Given the description of an element on the screen output the (x, y) to click on. 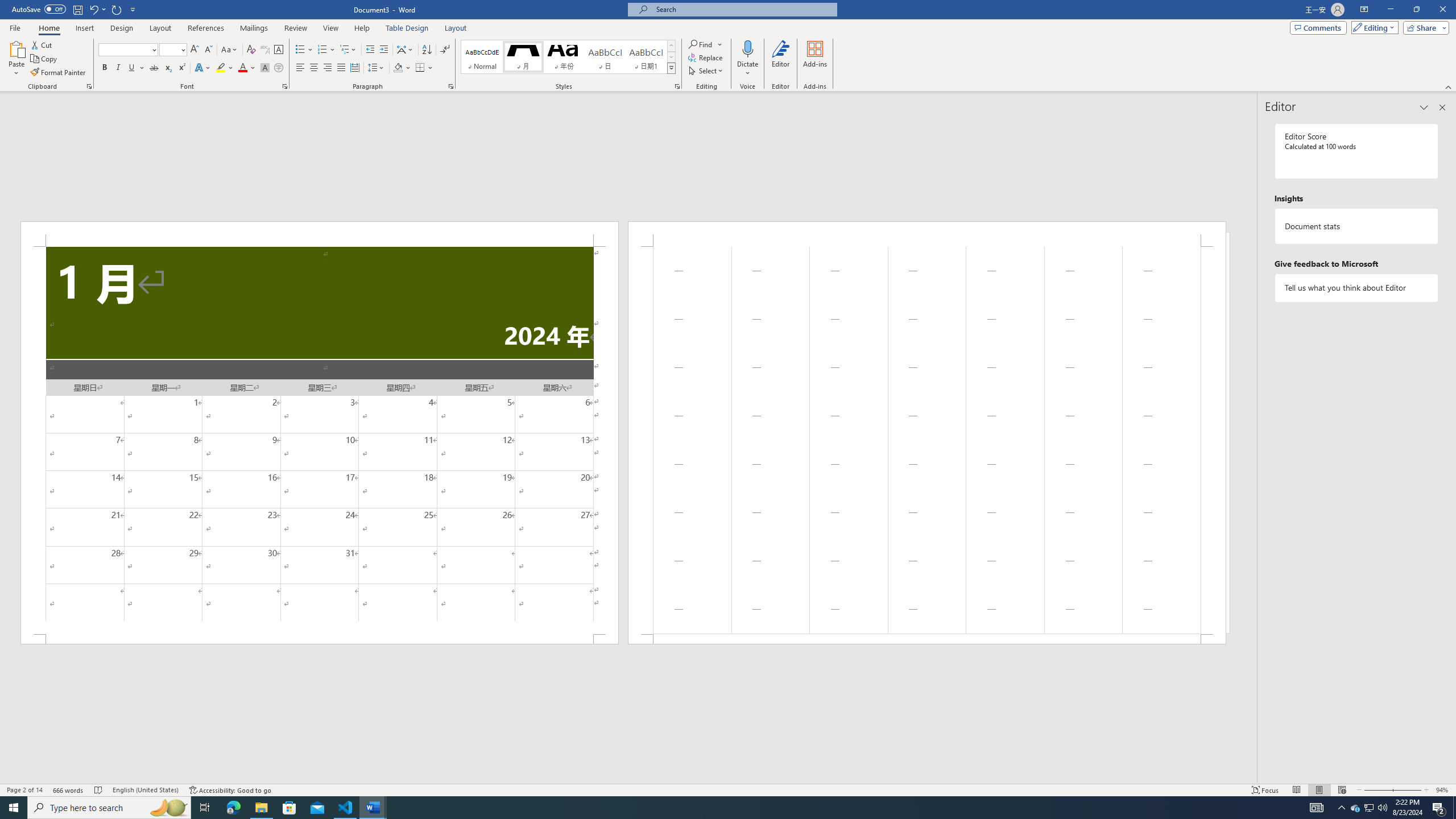
Page 2 content (926, 439)
Undo Apply Quick Style (92, 9)
